Given the description of an element on the screen output the (x, y) to click on. 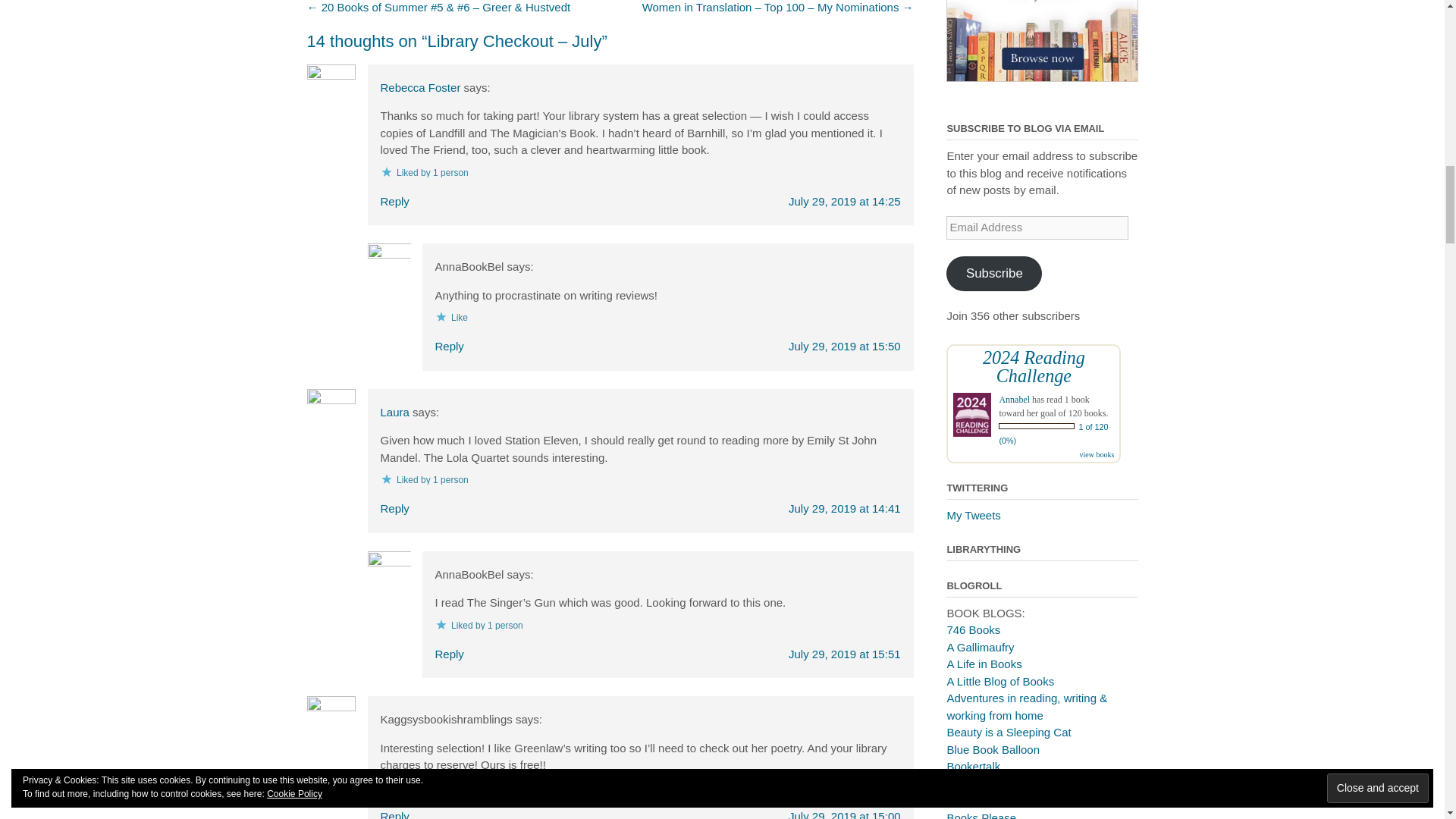
Reply (394, 201)
July 29, 2019 at 14:25 (845, 201)
www.blackwells.co.uk (1041, 40)
Rebecca Foster (420, 87)
